Given the description of an element on the screen output the (x, y) to click on. 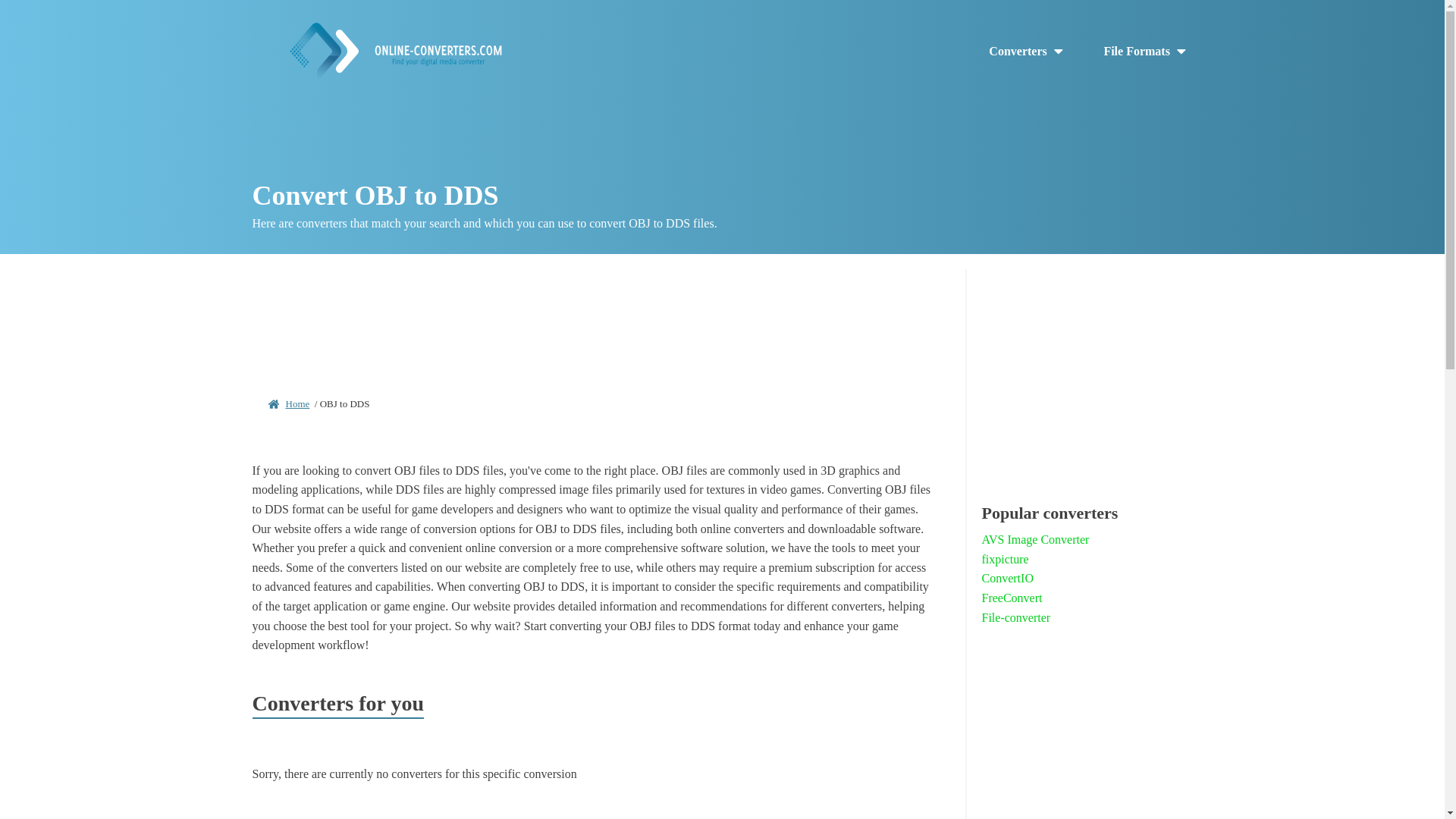
Advertisement (591, 318)
ConvertIO (1006, 578)
Advertisement (1087, 738)
File Formats (1145, 51)
Home (296, 403)
fixpicture (1004, 559)
FreeConvert (1011, 598)
AVS Image Converter (1035, 539)
Converters (1026, 51)
File-converter (1015, 618)
